Given the description of an element on the screen output the (x, y) to click on. 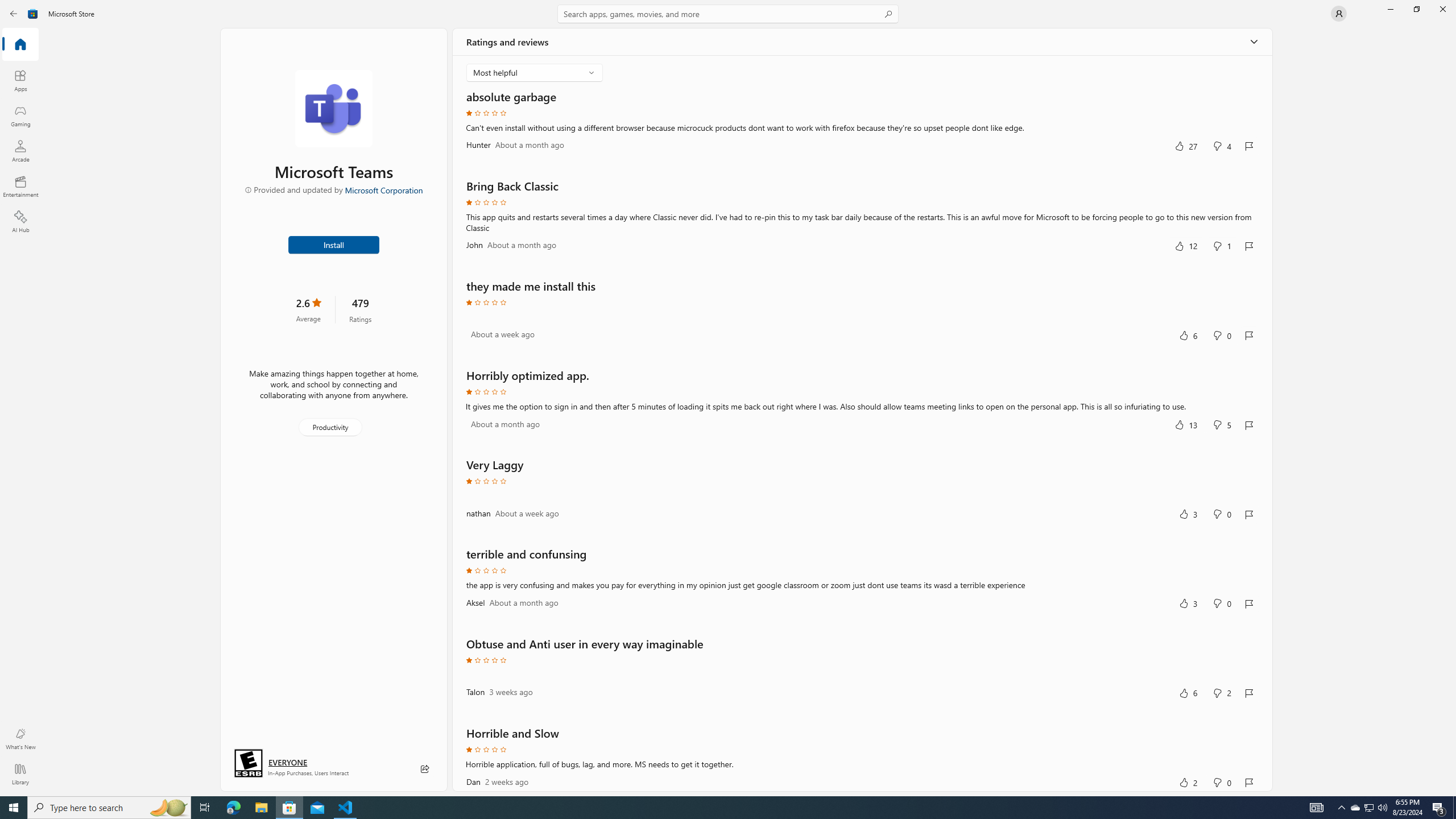
Most helpful (526, 71)
Minimize Microsoft Store (1390, 9)
Gaming (20, 115)
Back (13, 13)
Close Microsoft Store (1442, 9)
Library (20, 773)
Apps (20, 80)
Arcade (20, 150)
Sort by (534, 72)
Yes, this was helpful. 12 votes. (1185, 245)
Install (334, 244)
Collapse Ratings and reviews (1253, 41)
